Given the description of an element on the screen output the (x, y) to click on. 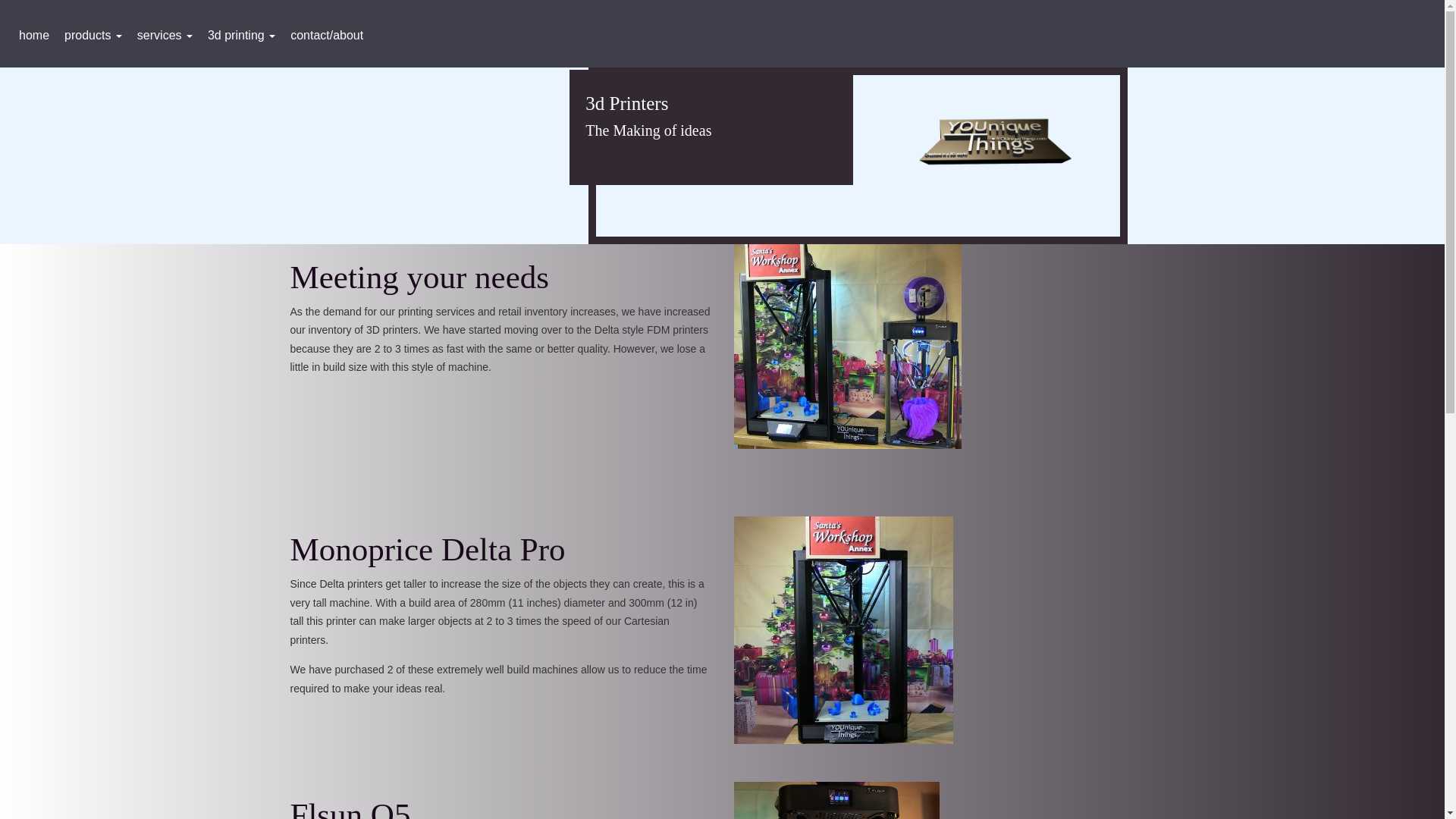
3d printing (241, 35)
home (33, 35)
products (92, 35)
services (164, 35)
